Given the description of an element on the screen output the (x, y) to click on. 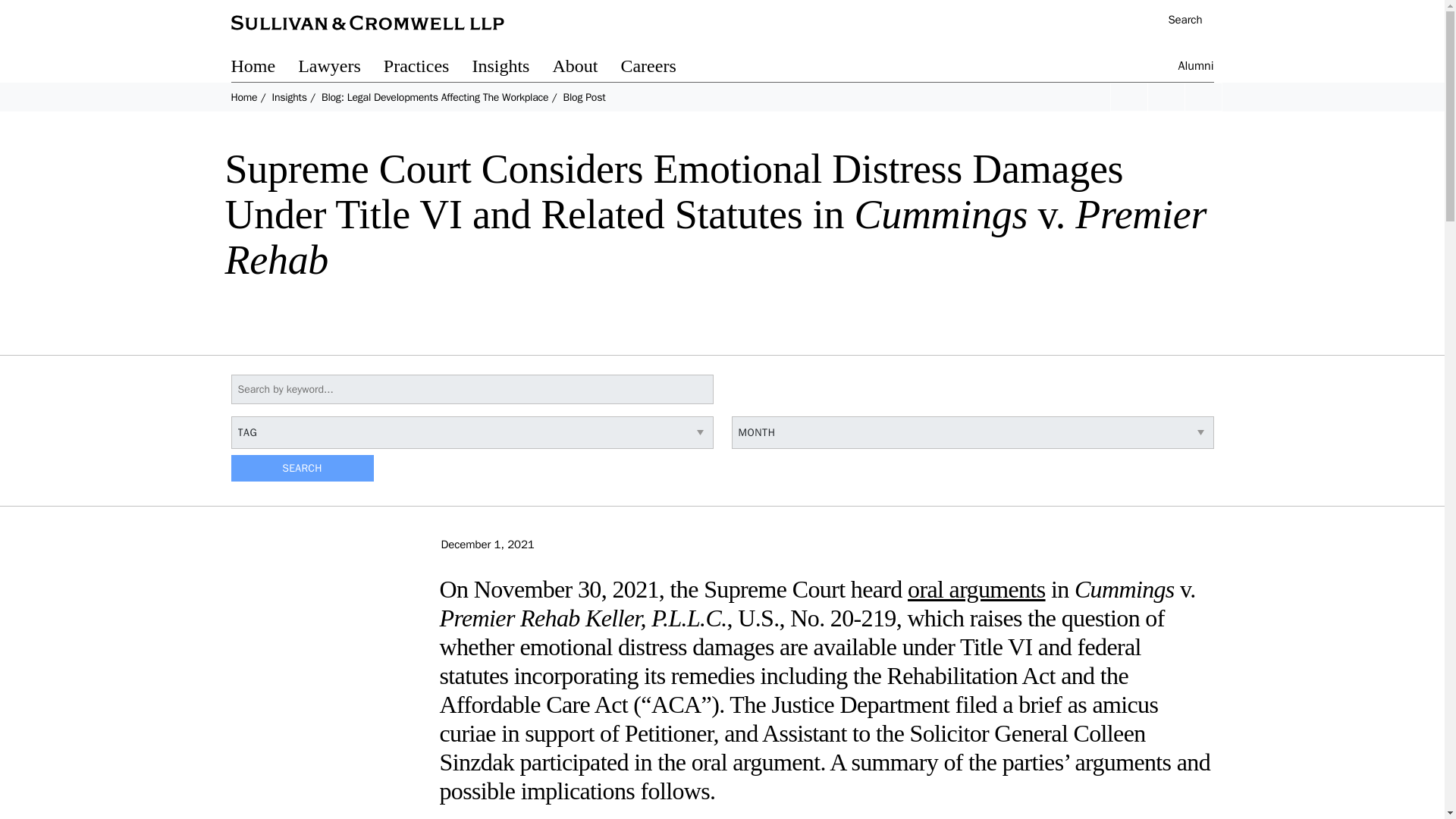
Home (264, 67)
Blog: Legal Developments Affecting The Workplace (434, 97)
SEARCH (301, 468)
Home (243, 97)
Search (1176, 20)
oral arguments (976, 588)
Careers (659, 67)
About (585, 67)
Insights (511, 67)
Alumni (1195, 67)
